Given the description of an element on the screen output the (x, y) to click on. 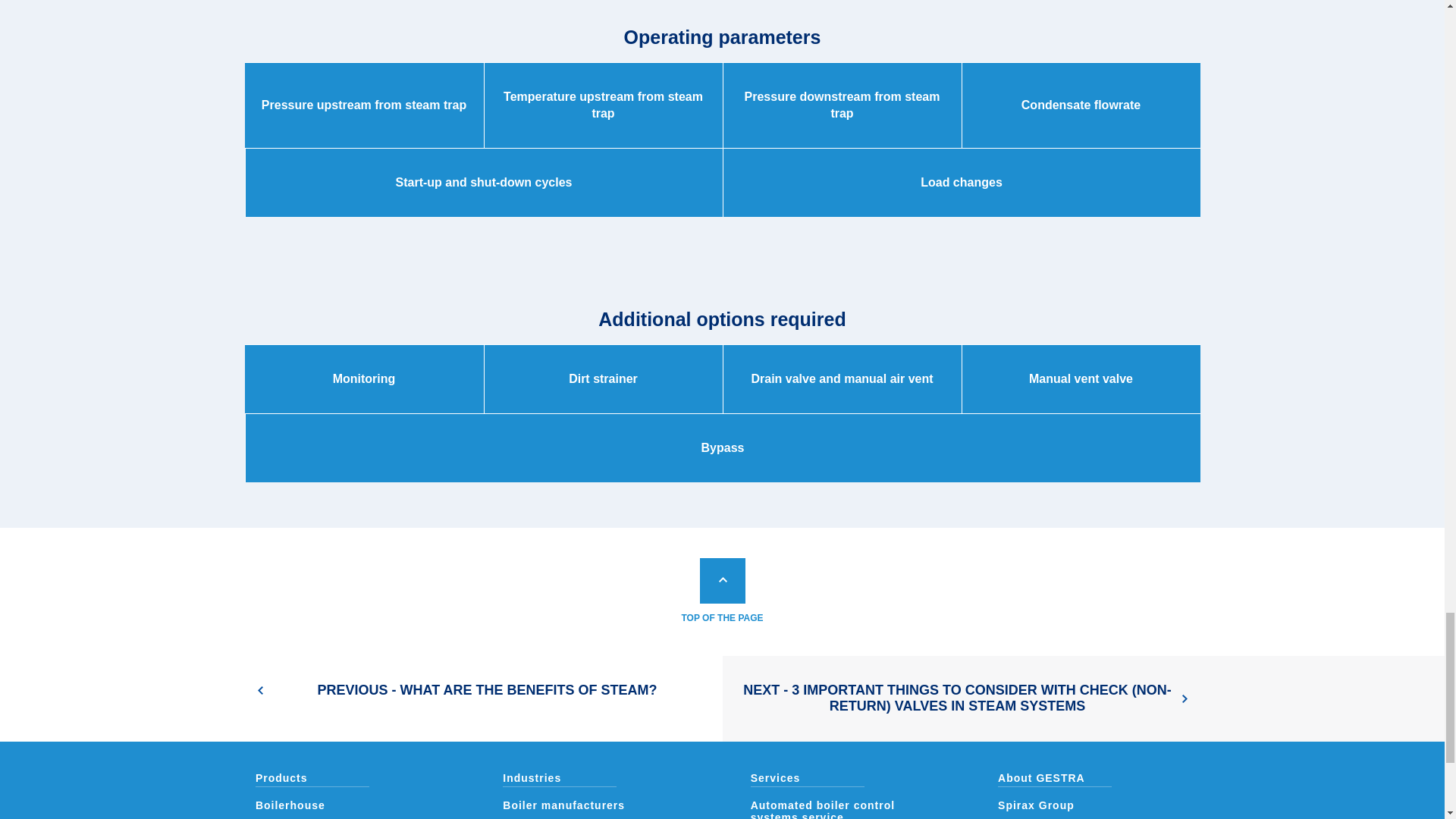
Boiler manufacturers (563, 805)
PREVIOUS - WHAT ARE THE BENEFITS OF STEAM? (361, 699)
TOP OF THE PAGE (721, 591)
Boilerhouse (290, 805)
